Given the description of an element on the screen output the (x, y) to click on. 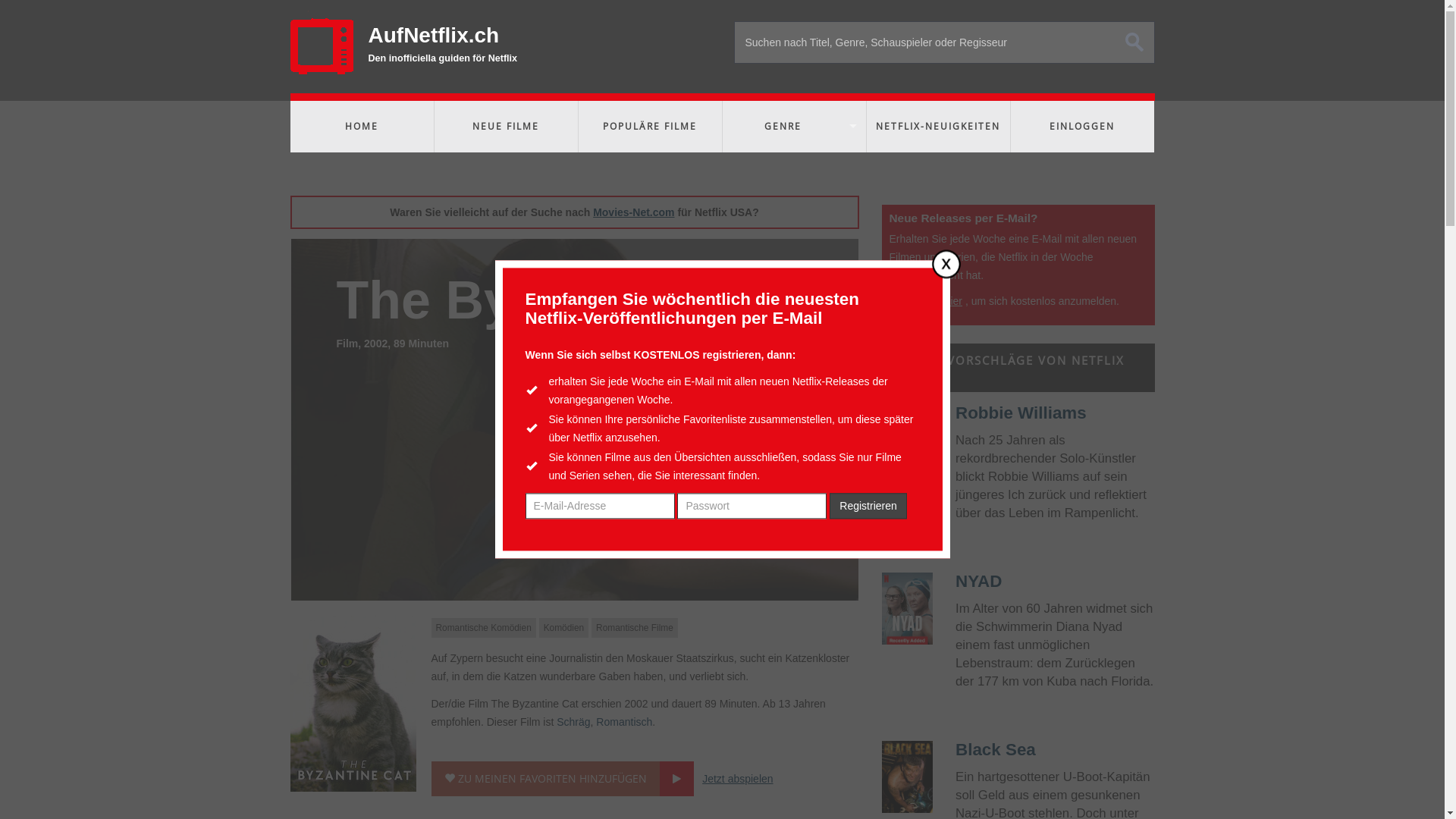
Robbie Williams Element type: hover (906, 440)
Klicken Sie hier Element type: text (925, 300)
NYAD Element type: text (978, 580)
Black Sea Element type: text (995, 749)
Robbie Williams Element type: text (1020, 412)
GENRE Element type: text (793, 126)
NYAD Element type: hover (906, 608)
NETFLIX-NEUIGKEITEN Element type: text (937, 126)
Romantisch Element type: text (624, 721)
EINLOGGEN Element type: text (1081, 126)
NEUE FILME Element type: text (505, 126)
Registrieren Element type: text (867, 506)
Black Sea Element type: hover (906, 776)
Movies-Net.com Element type: text (633, 212)
HOME Element type: text (361, 126)
Romantische Filme Element type: text (634, 627)
Jetzt abspielen Element type: text (737, 778)
